Given the description of an element on the screen output the (x, y) to click on. 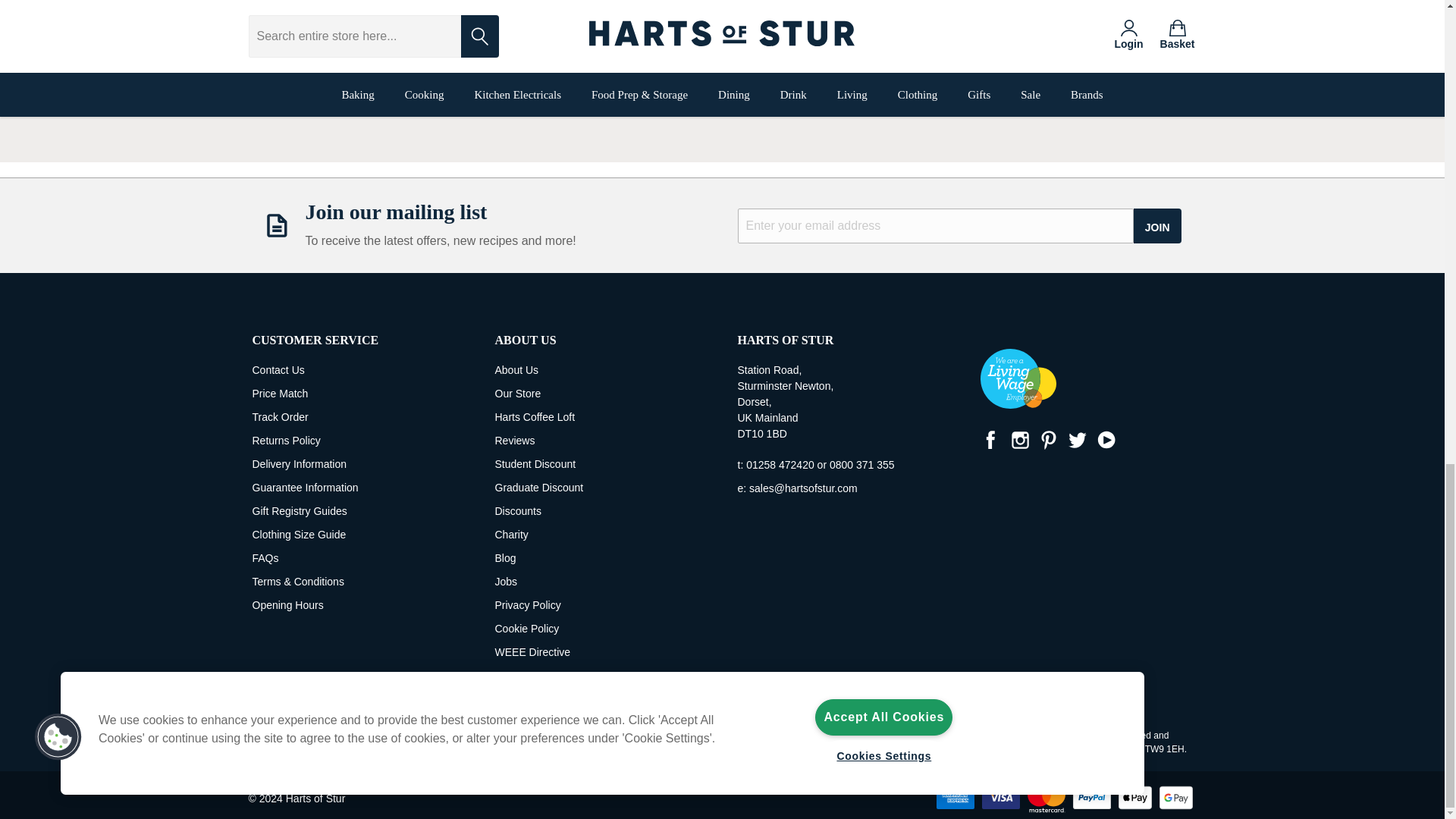
Join (1157, 225)
Instagram (1019, 439)
Facebook (990, 439)
Twitter (1076, 439)
Pinterest (1047, 439)
Youtube (1105, 439)
